Given the description of an element on the screen output the (x, y) to click on. 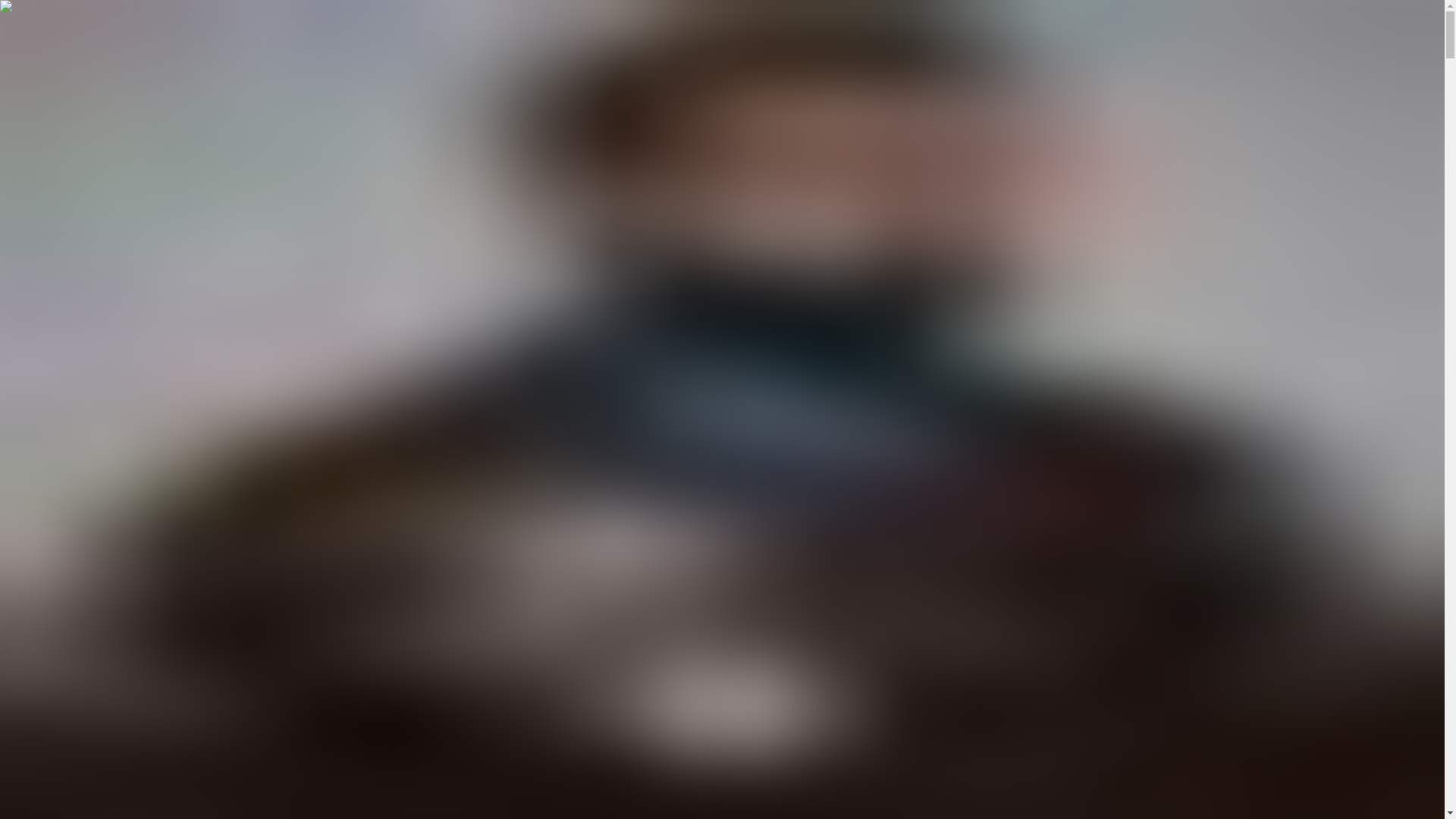
Music (20, 556)
Contact (135, 611)
Shop (48, 611)
Support Us (88, 611)
Menu (24, 13)
Fashion (25, 570)
Culture (23, 597)
Film (17, 529)
About (20, 611)
Home (19, 515)
